Given the description of an element on the screen output the (x, y) to click on. 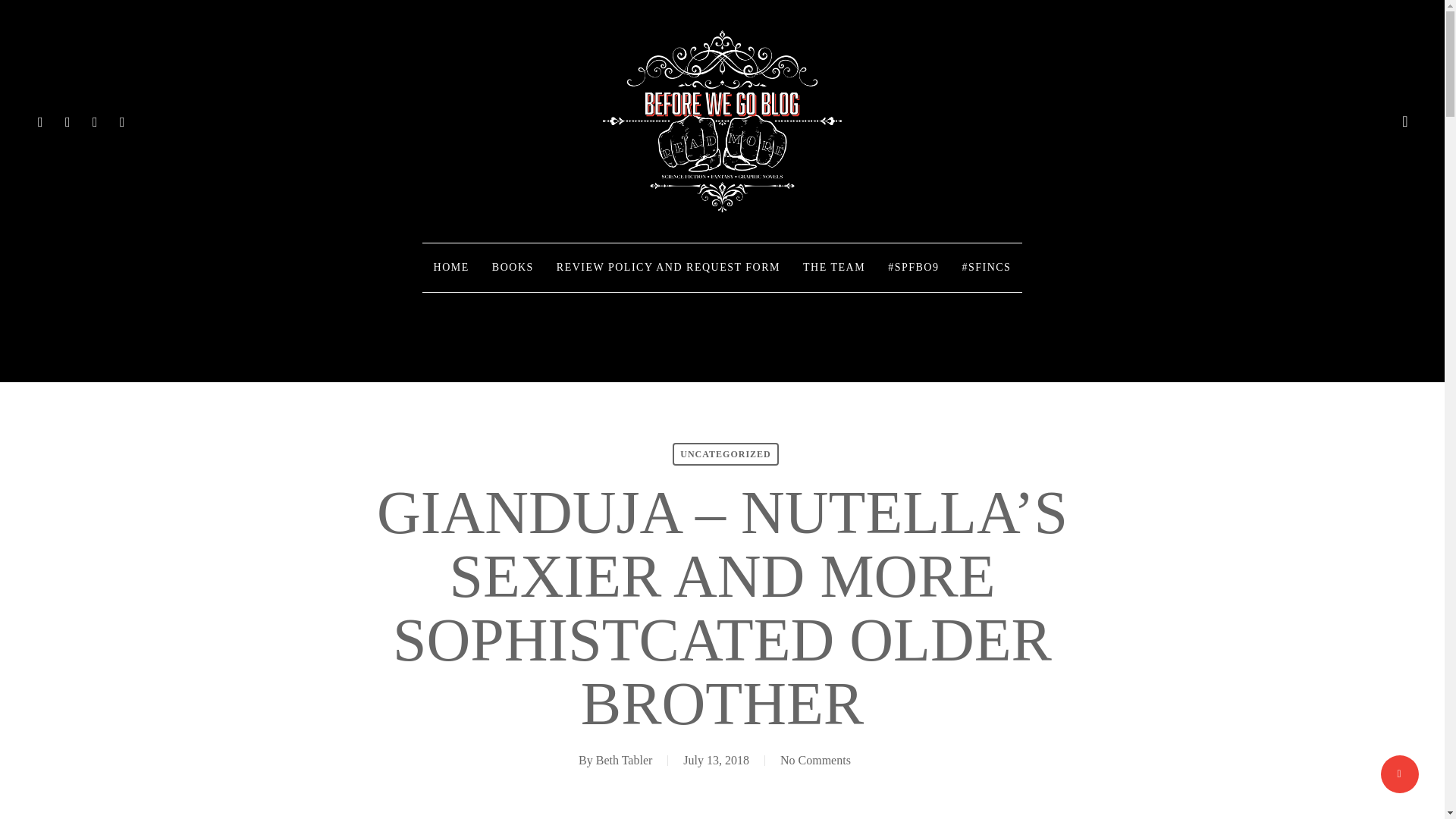
UNCATEGORIZED (724, 454)
HOME (451, 267)
PINTEREST (95, 121)
search (1404, 121)
TWITTER (41, 121)
Posts by Beth Tabler (623, 759)
No Comments (815, 759)
REVIEW POLICY AND REQUEST FORM (668, 267)
Beth Tabler (623, 759)
BOOKS (512, 267)
